Given the description of an element on the screen output the (x, y) to click on. 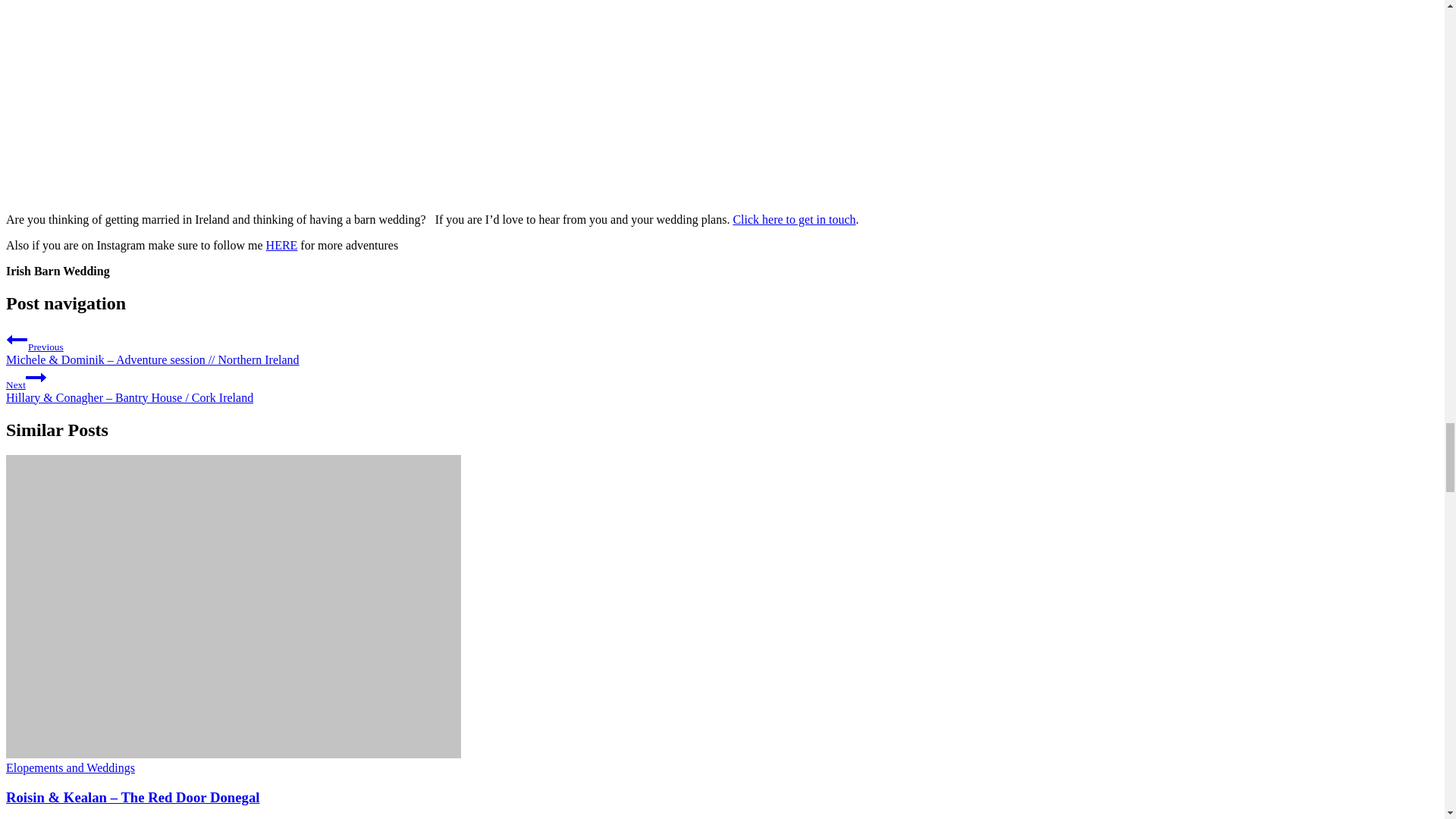
Click here to get in touch (794, 219)
Elopements and Weddings (70, 767)
Previous (16, 339)
HERE (282, 245)
Continue (36, 377)
